Given the description of an element on the screen output the (x, y) to click on. 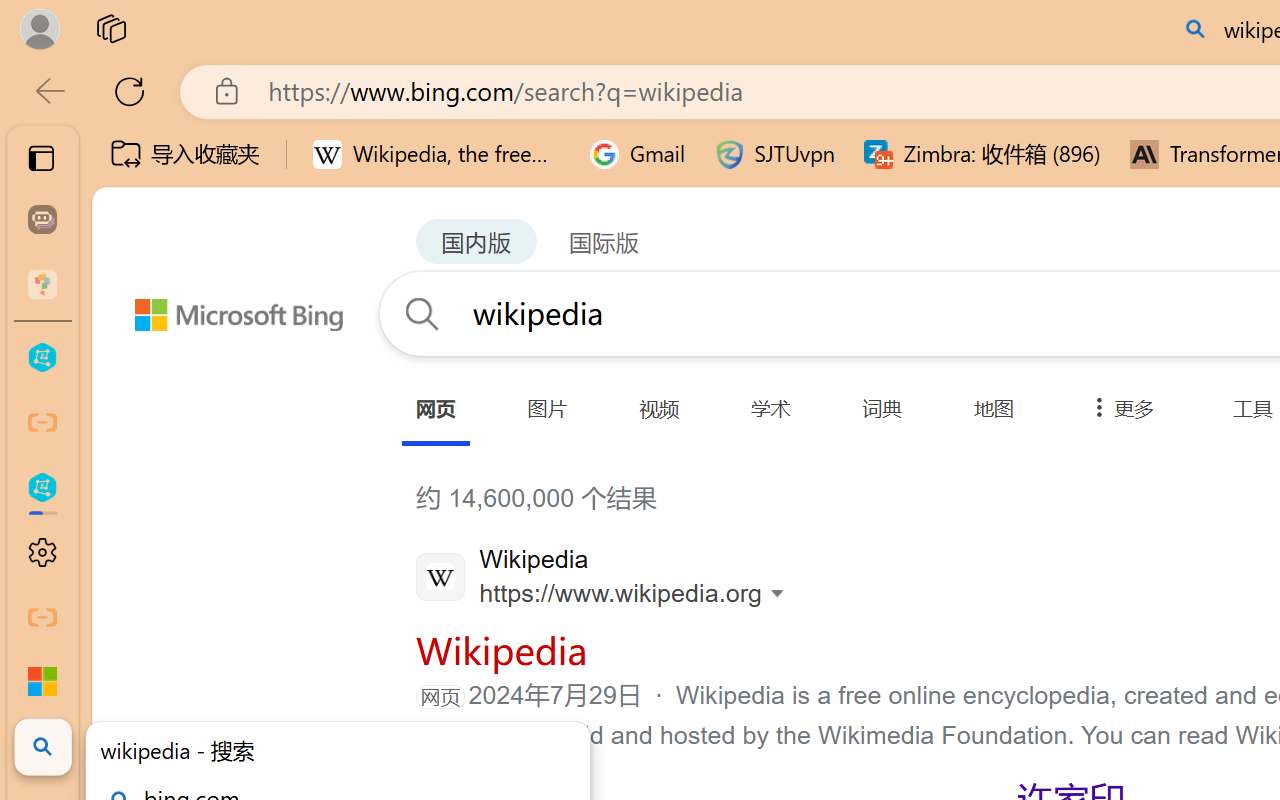
SJTUvpn (774, 154)
Wikipedia (500, 649)
Wikipedia, the free encyclopedia (437, 154)
wangyian_dsw - DSW (42, 357)
wangyian_webcrawler - DSW (42, 487)
